Given the description of an element on the screen output the (x, y) to click on. 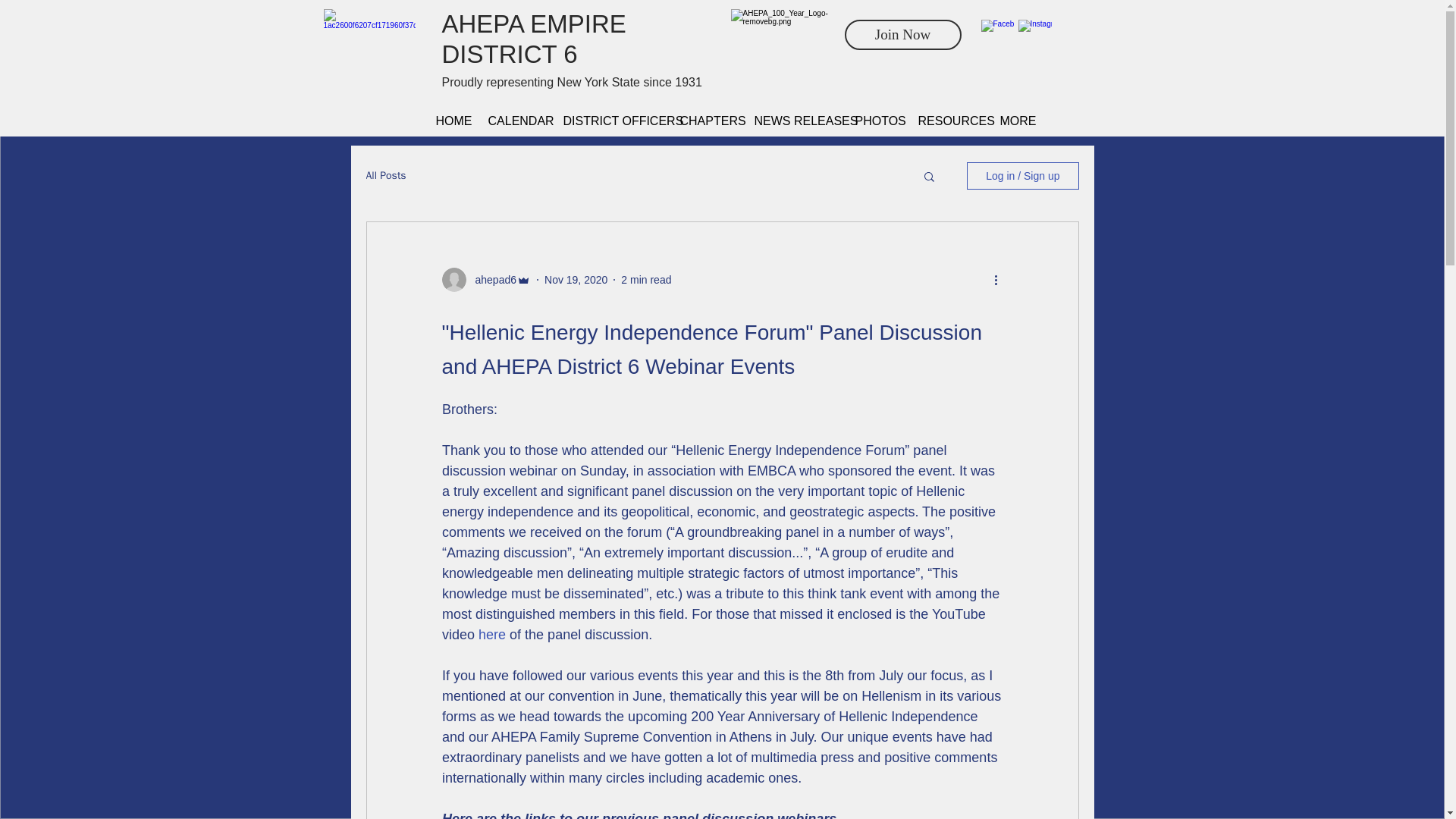
2 min read (646, 279)
All Posts (385, 175)
ahepad6 (490, 279)
NEWS RELEASES (793, 120)
CHAPTERS (705, 120)
RESOURCES (947, 120)
CALENDAR (513, 120)
DISTRICT OFFICERS (609, 120)
Nov 19, 2020 (575, 279)
HOME (451, 120)
